Given the description of an element on the screen output the (x, y) to click on. 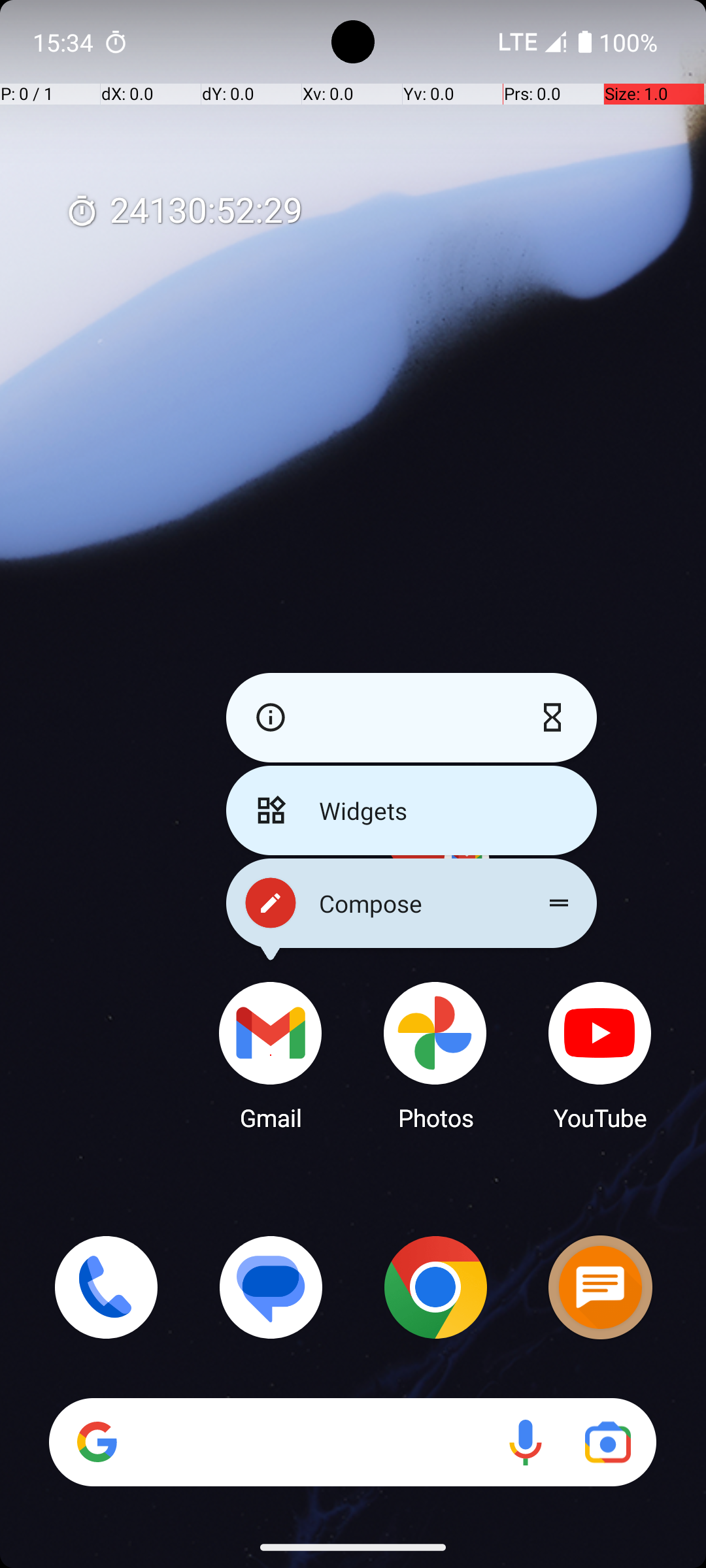
Pause app Element type: android.widget.ImageView (555, 717)
Compose Element type: android.widget.TextView (411, 902)
Widgets Element type: android.widget.TextView (411, 810)
